Given the description of an element on the screen output the (x, y) to click on. 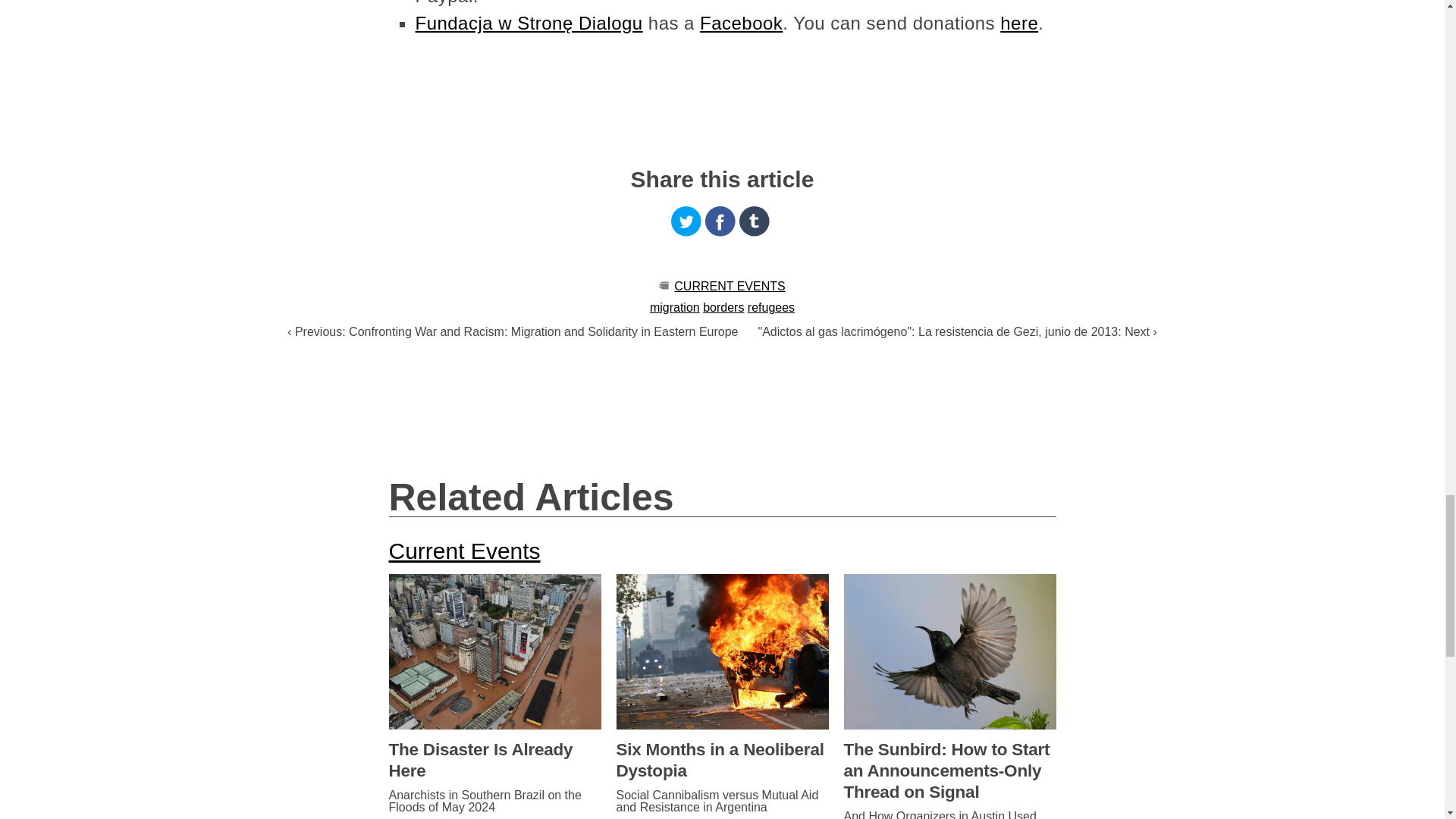
Six Months in a Neoliberal Dystopia (721, 760)
Share on Facebook (719, 221)
Share on Tumblr (754, 221)
refugees (771, 307)
here (1019, 23)
borders (723, 307)
Current Events (464, 550)
Anarchists in Southern Brazil on the Floods of May 2024 (493, 801)
Facebook (741, 23)
Share on Twitter (686, 221)
The Disaster Is Already Here (493, 760)
migration (674, 307)
CURRENT EVENTS (729, 286)
